Given the description of an element on the screen output the (x, y) to click on. 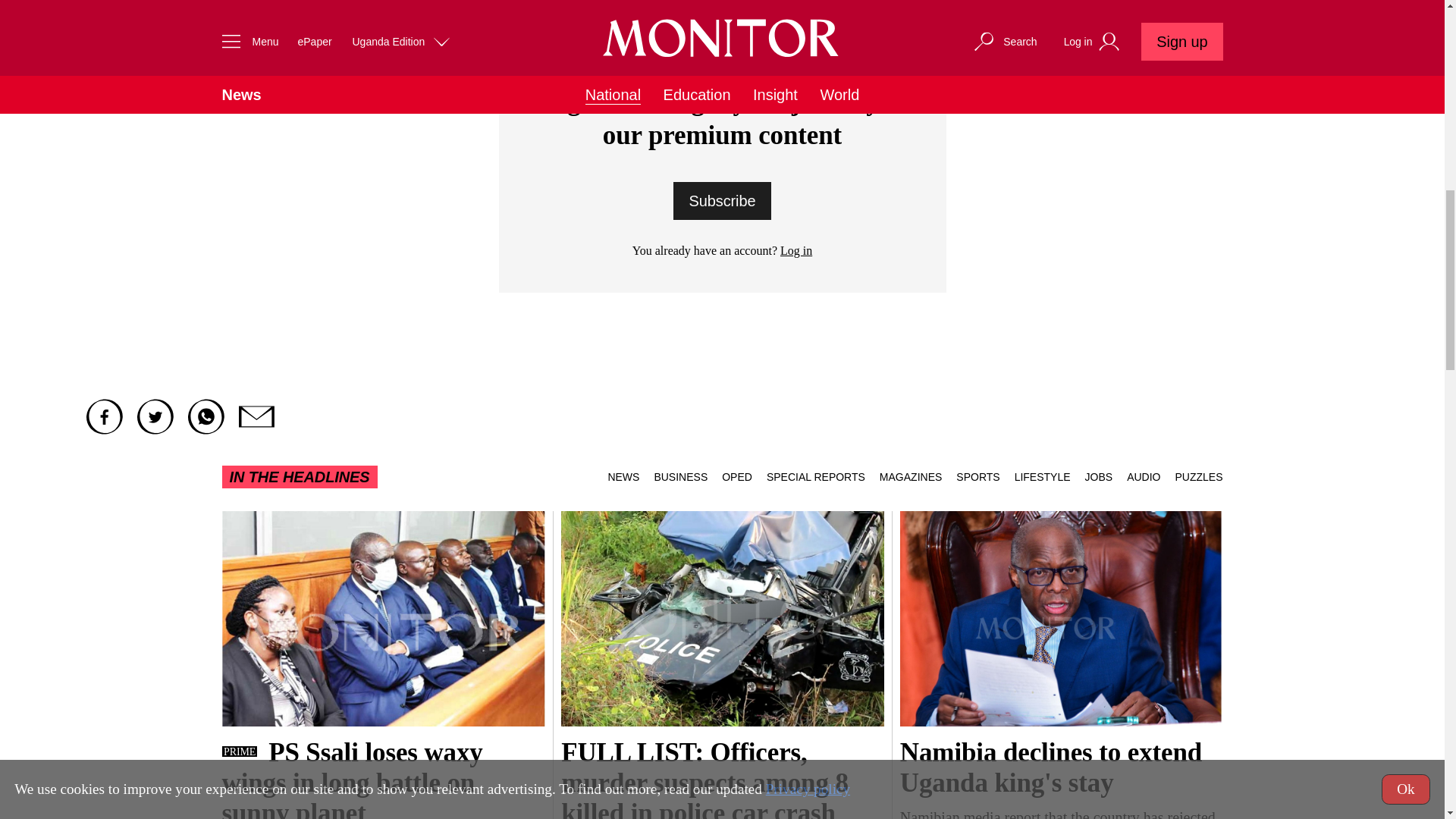
PRIME (238, 751)
